Given the description of an element on the screen output the (x, y) to click on. 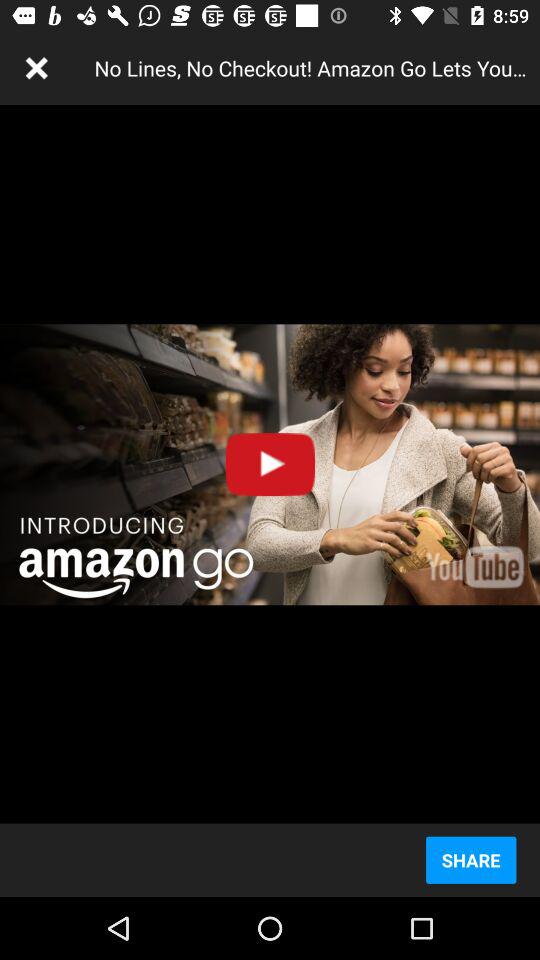
jump to the share icon (470, 859)
